Given the description of an element on the screen output the (x, y) to click on. 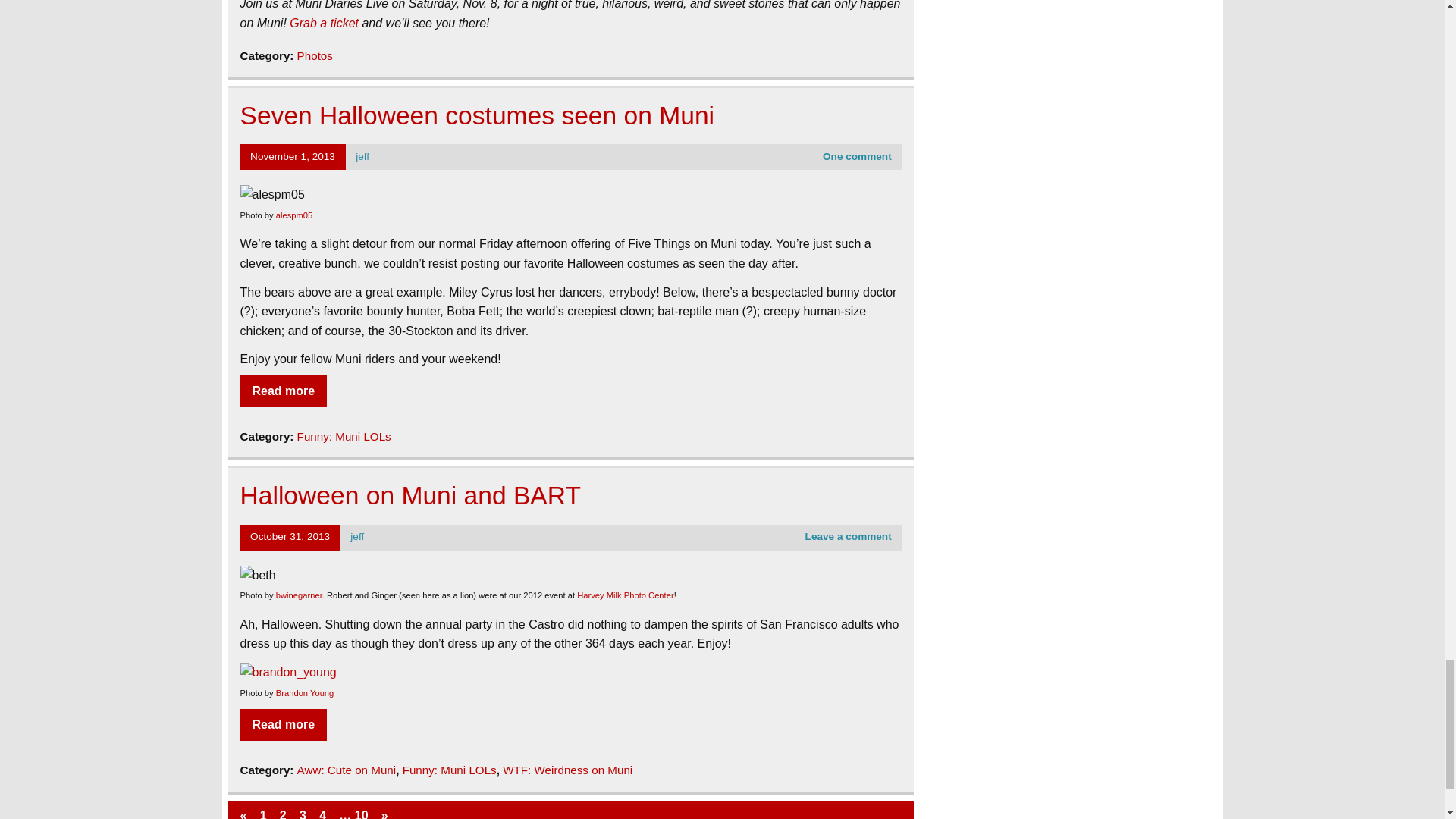
View all posts by jeff (357, 536)
View all posts by jeff (362, 156)
4:55 pm (290, 536)
2:55 pm (292, 156)
